Given the description of an element on the screen output the (x, y) to click on. 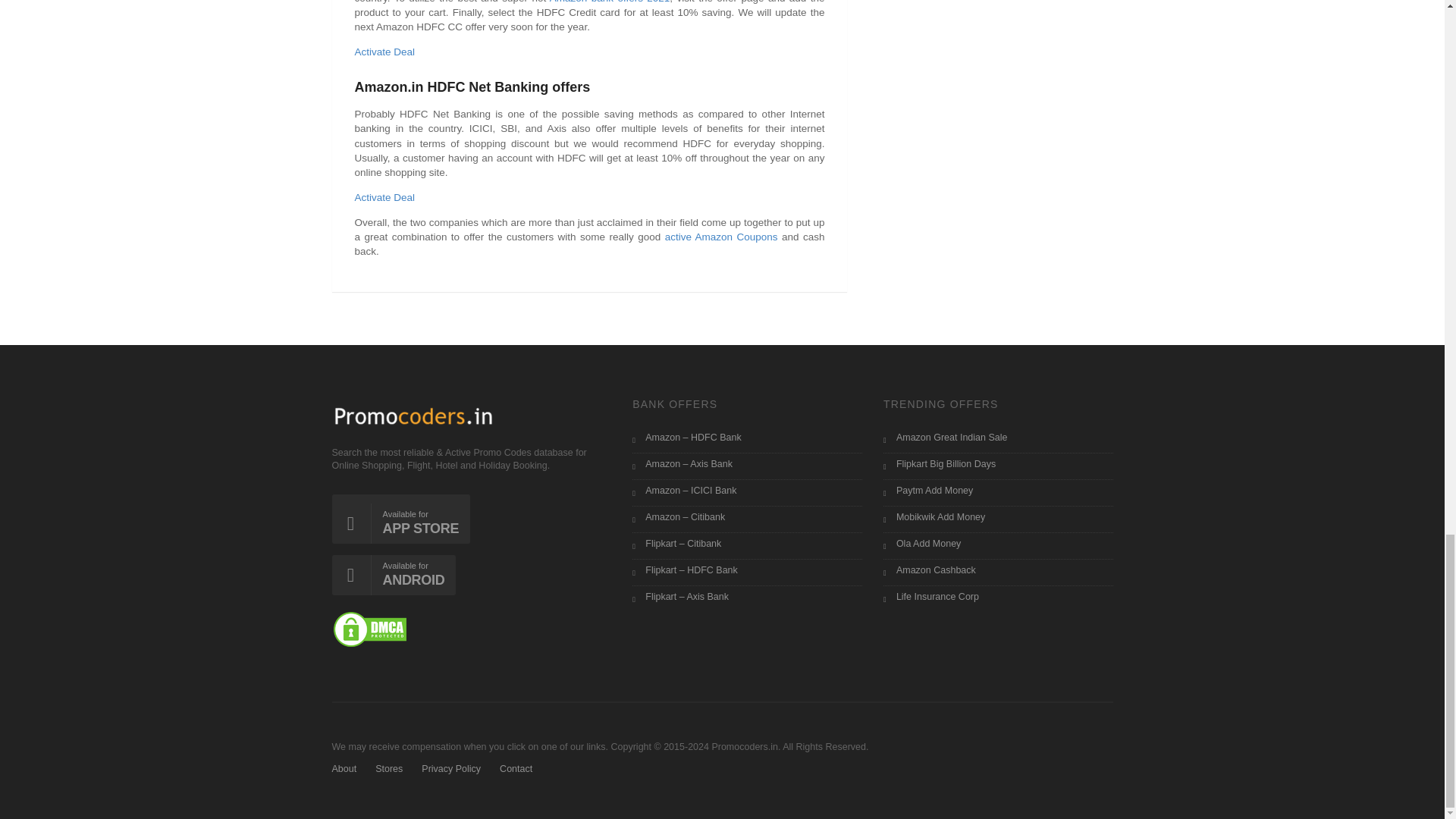
DMCA.com Protection Status (369, 629)
